Given the description of an element on the screen output the (x, y) to click on. 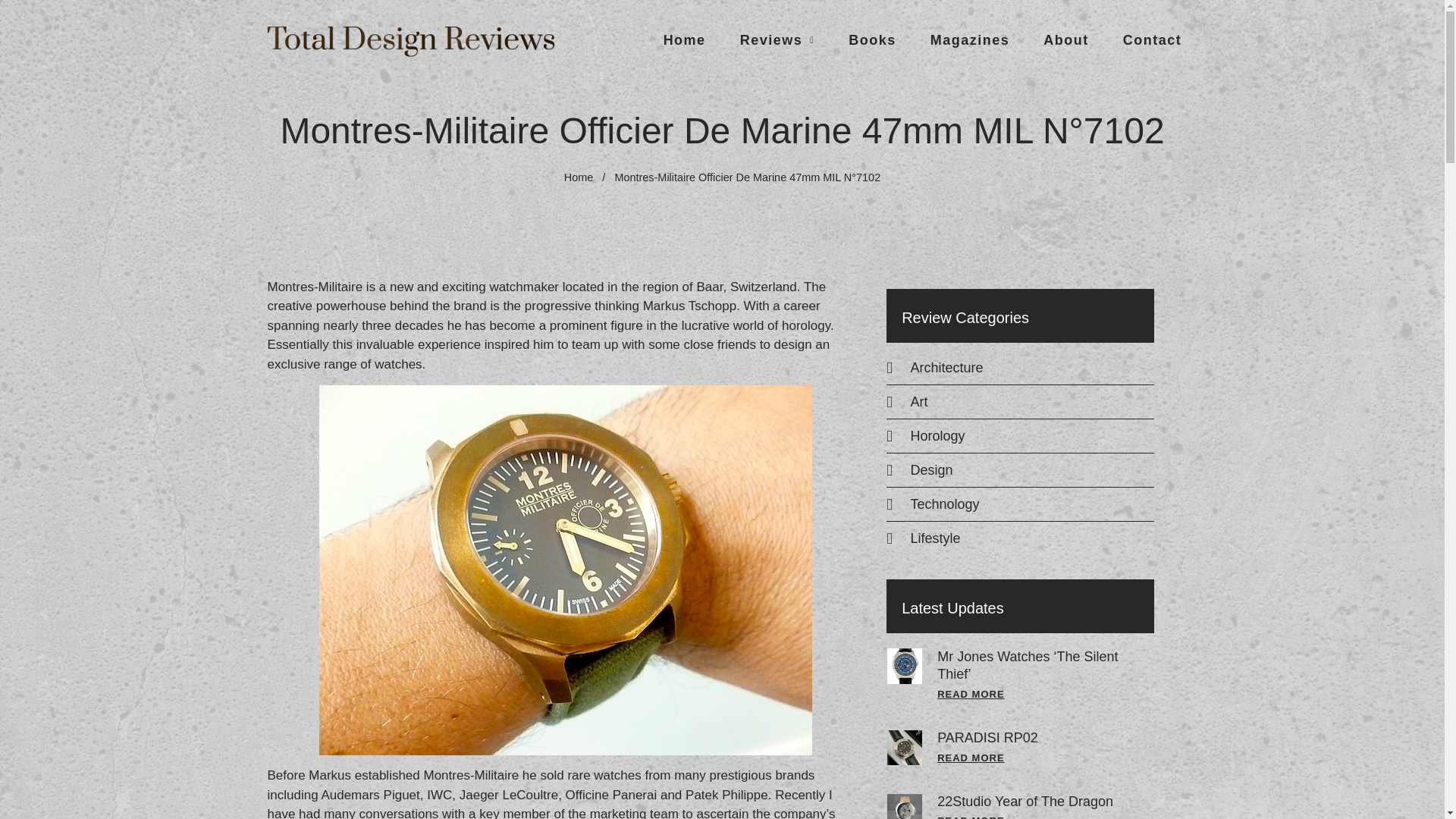
Magazines (970, 39)
Home (579, 177)
Home (684, 39)
Contact (1152, 39)
About (1065, 39)
Books (872, 39)
Reviews (777, 39)
